Given the description of an element on the screen output the (x, y) to click on. 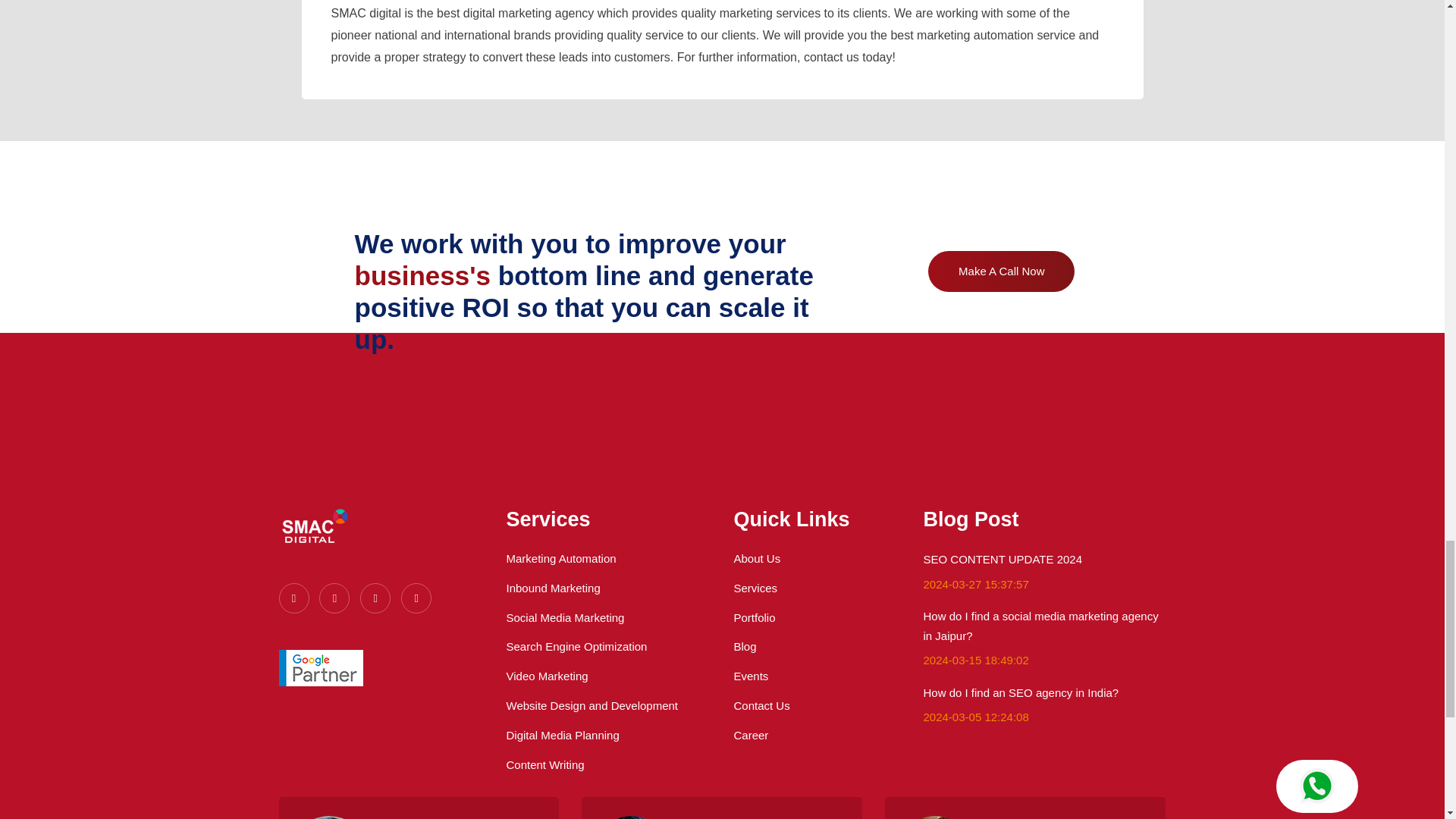
Contact Us (761, 705)
About Us (756, 558)
SEO CONTENT UPDATE 2024 (1003, 558)
Services (755, 587)
Video Marketing (547, 675)
Content Writing (545, 764)
Events (750, 675)
Inbound Marketing (552, 587)
Make A Call Now (1001, 270)
Website Design and Development (592, 705)
